Given the description of an element on the screen output the (x, y) to click on. 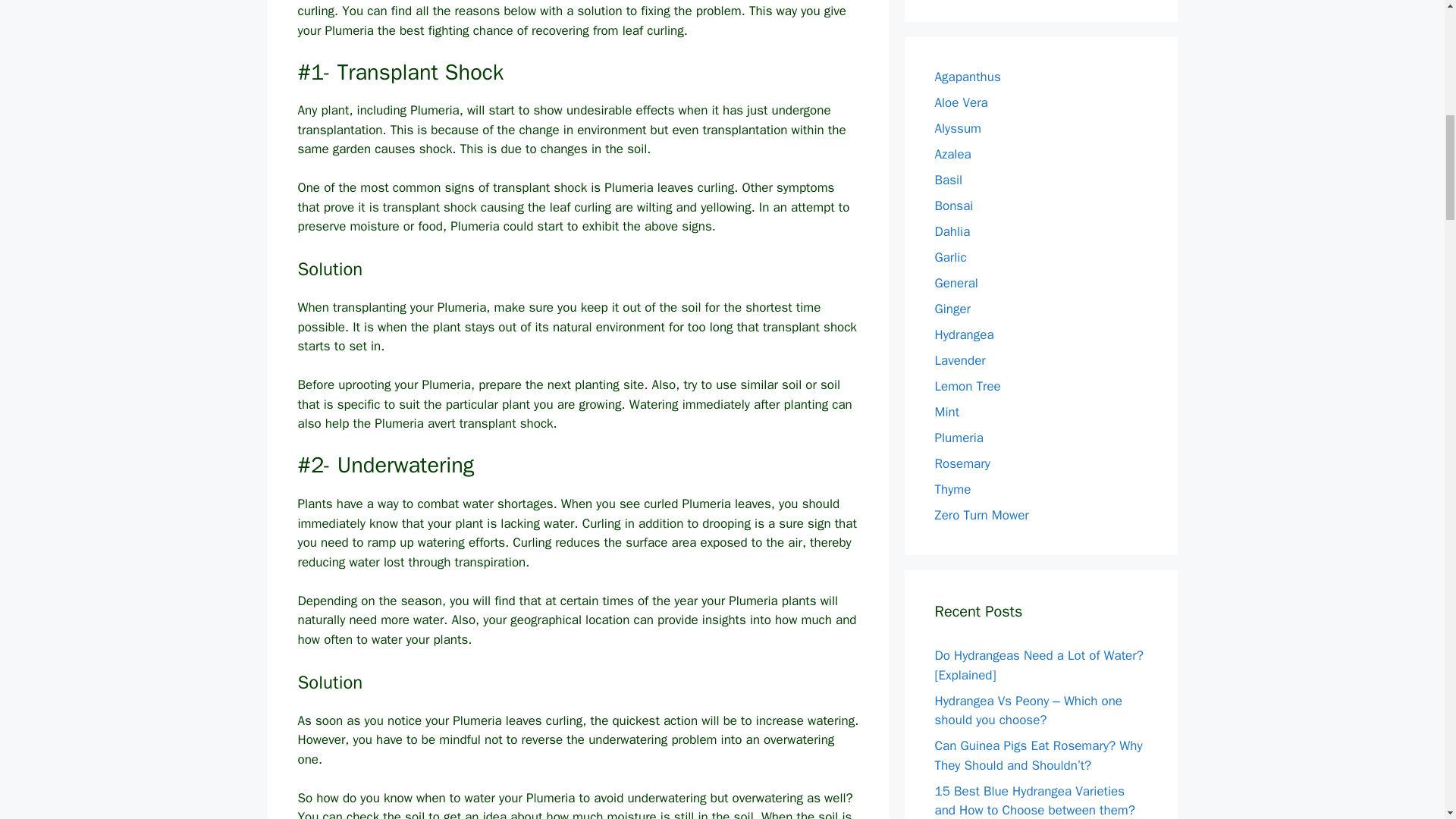
Aloe Vera (960, 101)
Alyssum (956, 127)
Agapanthus (967, 75)
Azalea (952, 153)
Basil (948, 179)
Bonsai (953, 204)
